Given the description of an element on the screen output the (x, y) to click on. 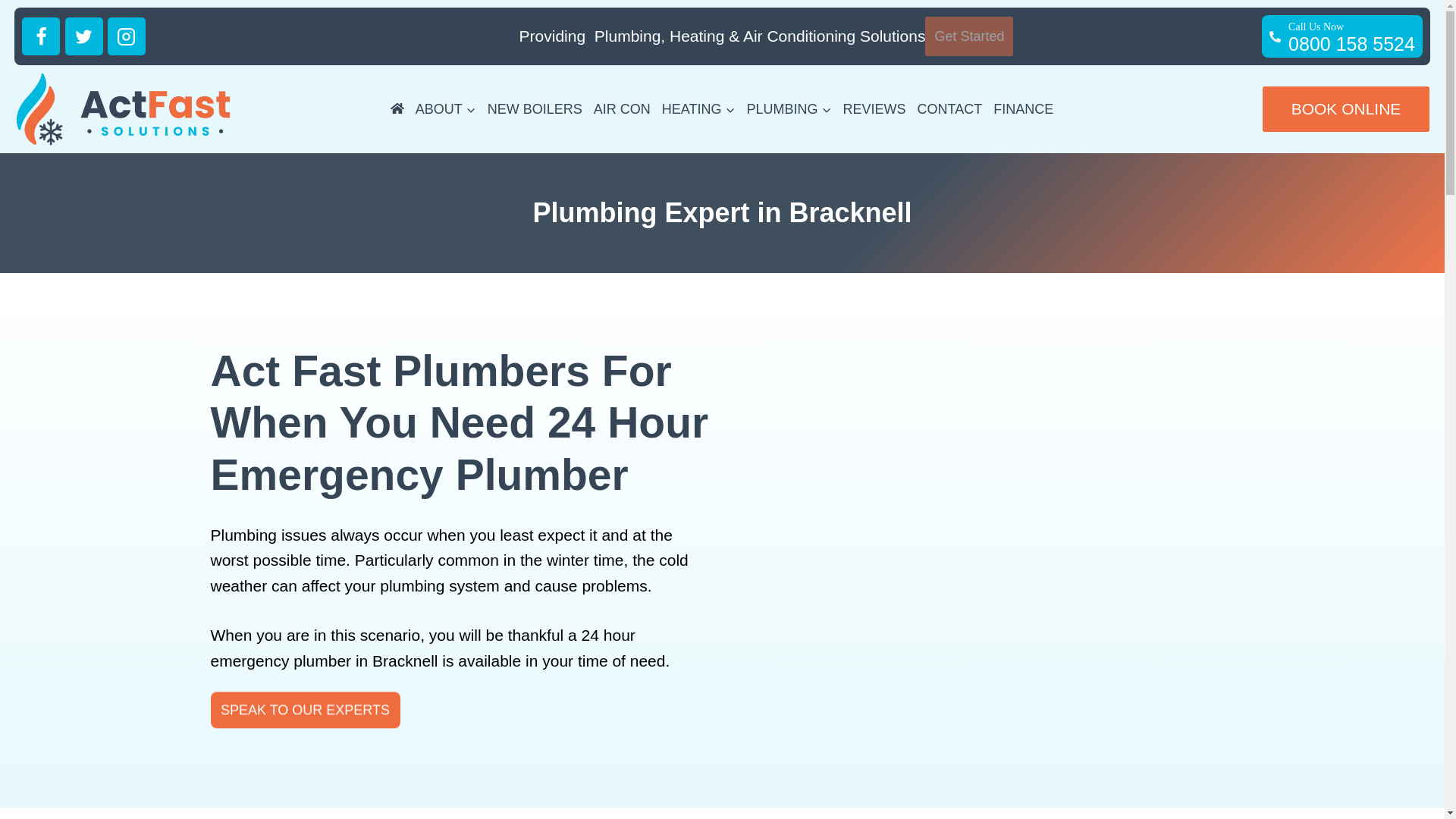
CONTACT (950, 108)
BOOK ONLINE (1345, 108)
SPEAK TO OUR EXPERTS (1342, 36)
Google map of Bracknell (305, 709)
ABOUT (534, 108)
PLUMBING (445, 108)
HEATING (789, 108)
Get Started (698, 108)
